Given the description of an element on the screen output the (x, y) to click on. 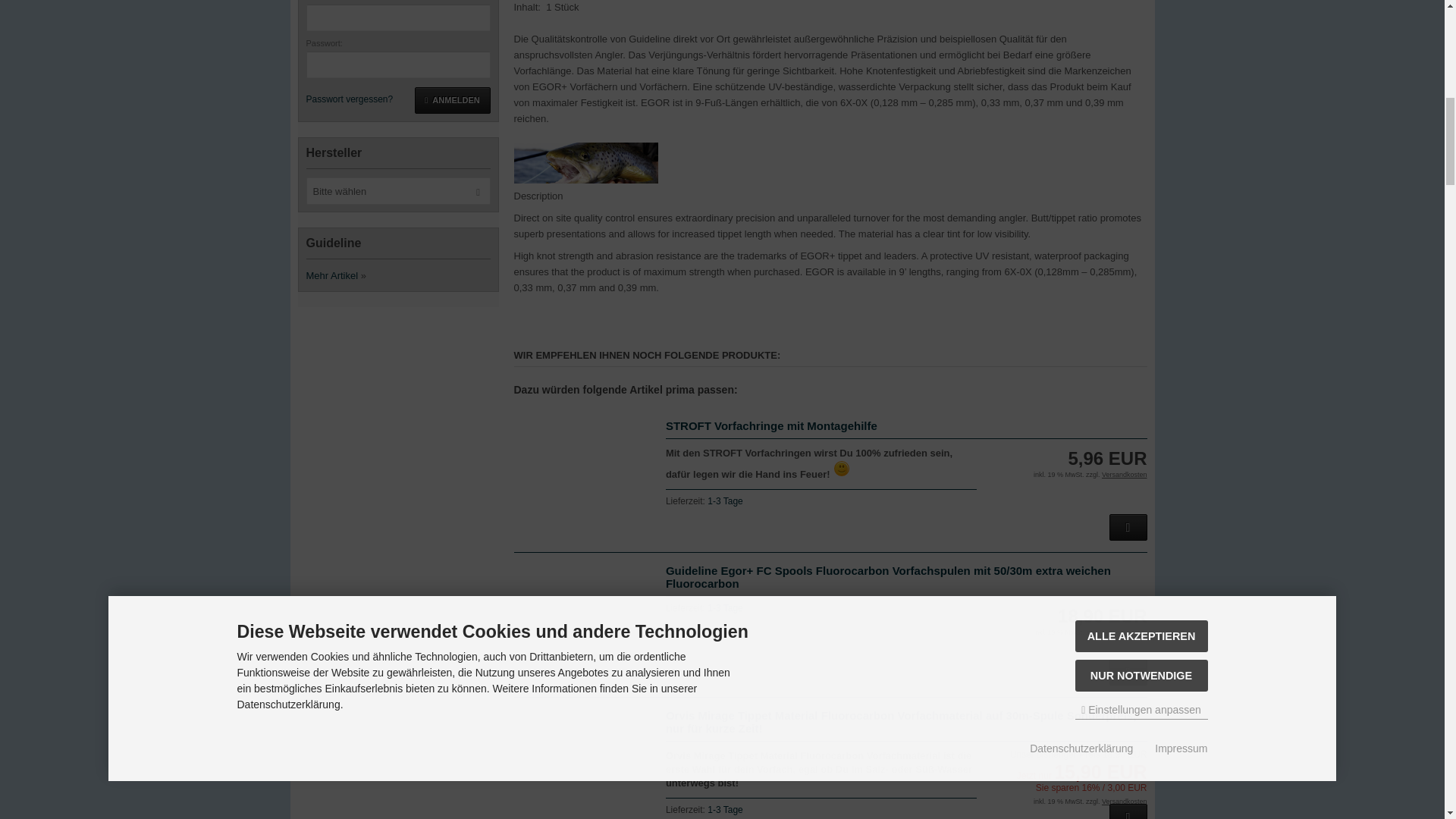
Versandkosten (1124, 474)
STROFT Vorfachringe mit Montagehilfe (771, 425)
Versandkosten (1124, 801)
1-3 Tage (724, 809)
1-3 Tage (724, 607)
Versandkosten (1124, 632)
1-3 Tage (724, 501)
